Given the description of an element on the screen output the (x, y) to click on. 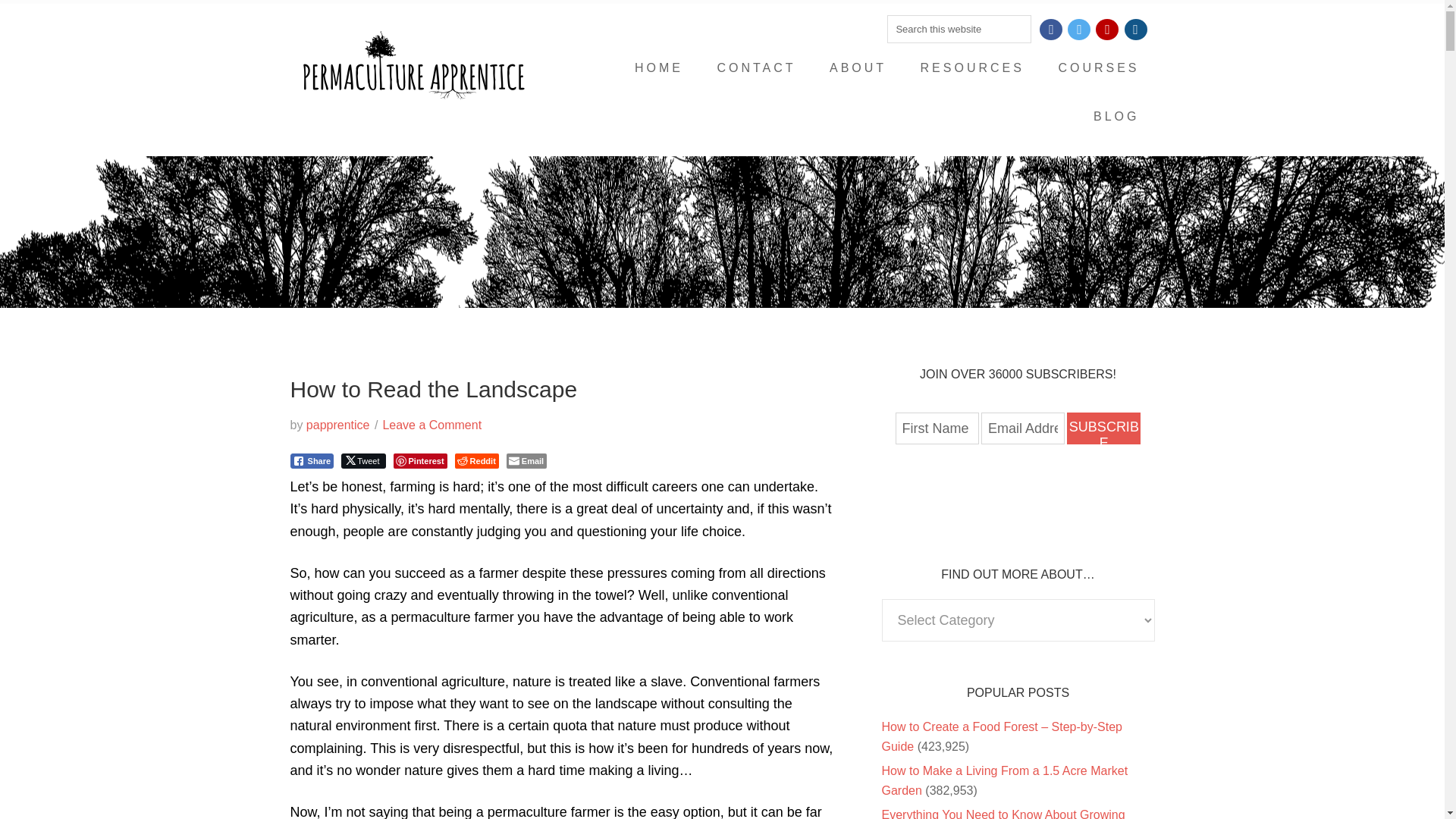
papprentice (337, 424)
HOME (659, 68)
Leave a Comment (431, 424)
RESOURCES (972, 68)
BLOG (1116, 116)
Email (526, 460)
Reddit (476, 460)
ABOUT (857, 68)
